Given the description of an element on the screen output the (x, y) to click on. 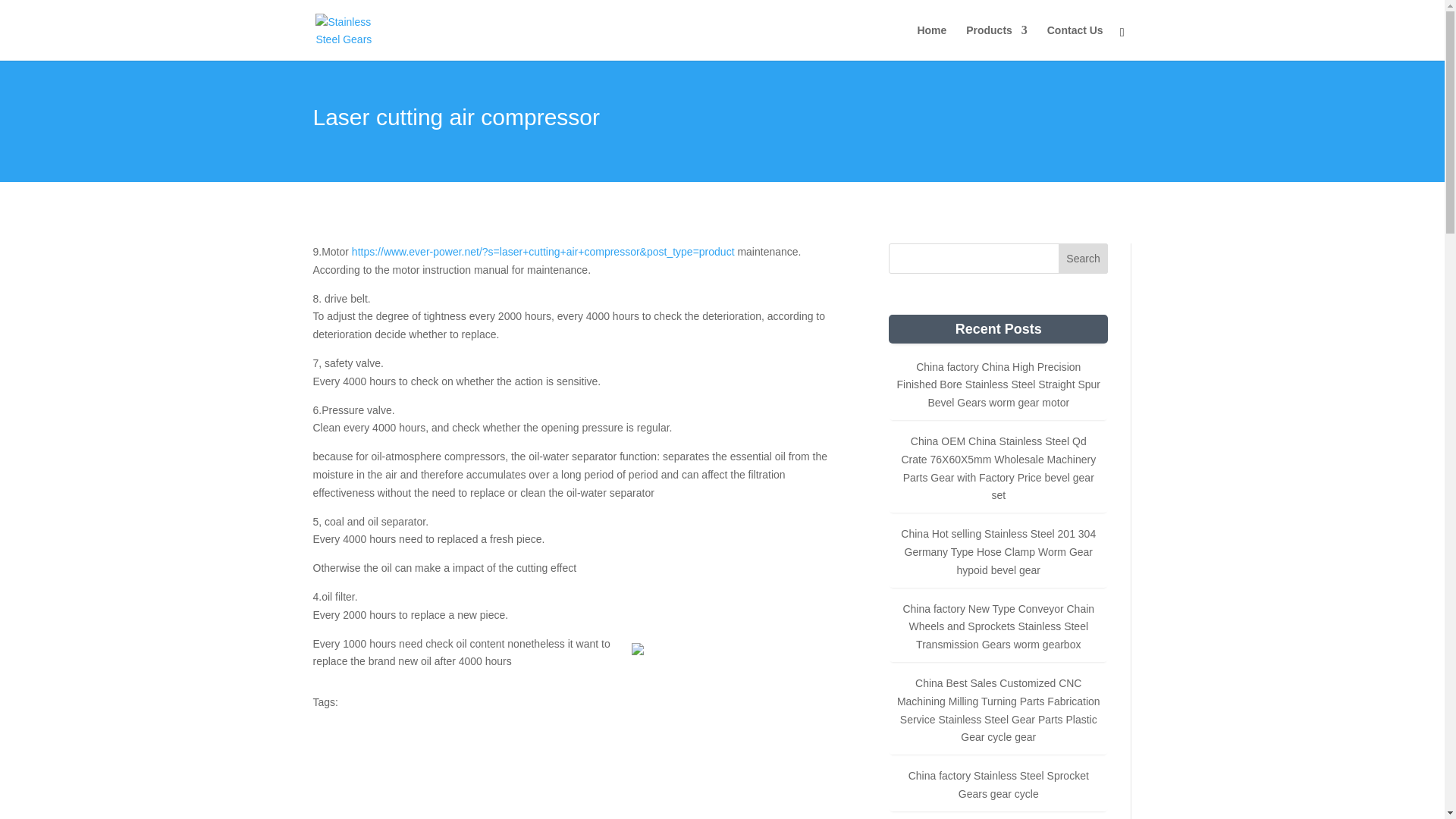
Home (931, 42)
Products (996, 42)
Search (1083, 258)
Search (1083, 258)
Contact Us (1074, 42)
China factory Stainless Steel Sprocket Gears gear cycle (998, 784)
